Given the description of an element on the screen output the (x, y) to click on. 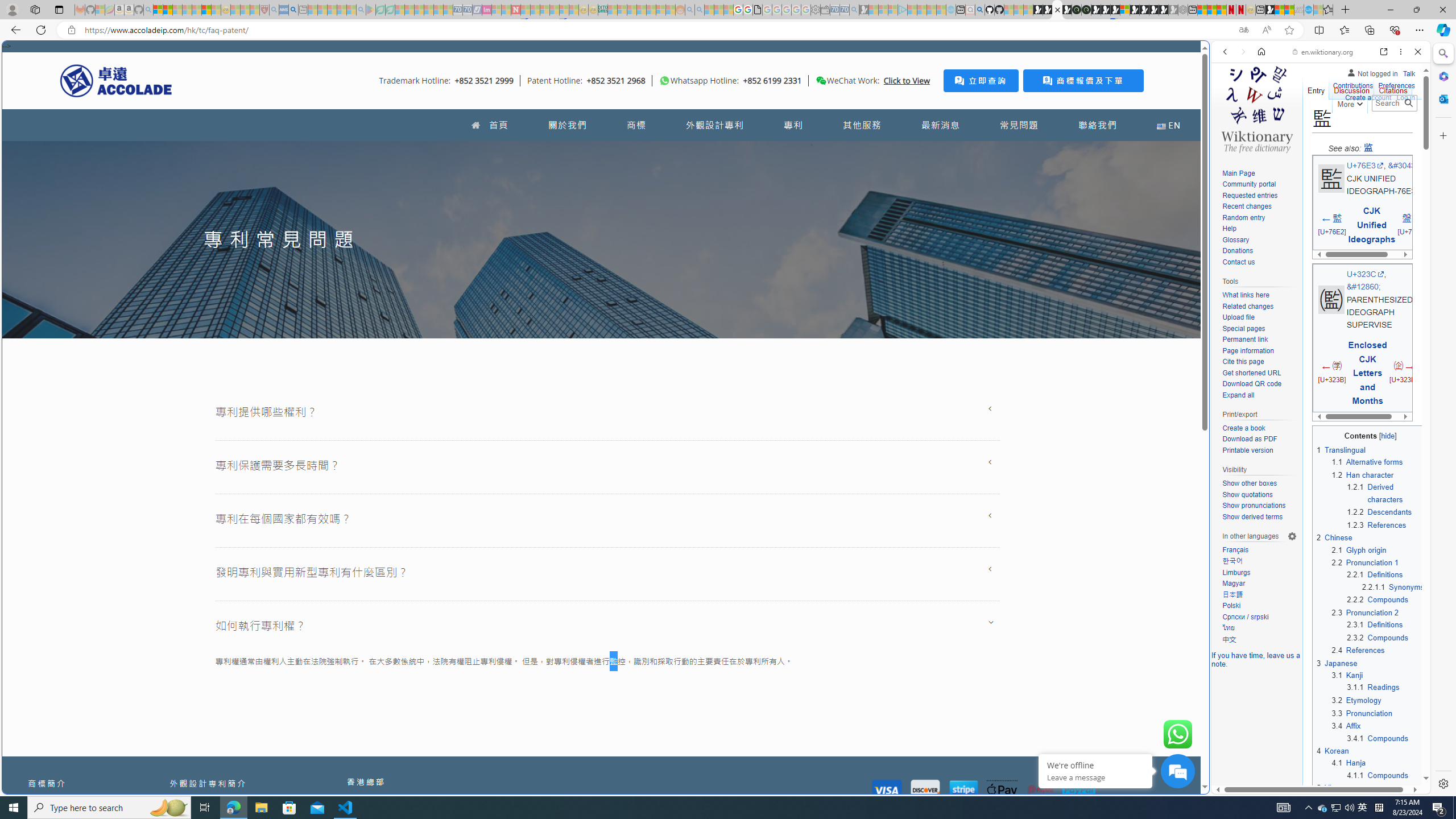
1.2.1Derived characters (1385, 493)
Random entry (1259, 218)
4.1.1Compounds (1385, 775)
google - Search - Sleeping (360, 9)
Enclosed CJK Letters and Months (1367, 372)
Create account (1367, 96)
Log in (1405, 96)
CJK Unified Ideographs (1372, 224)
Page information (1247, 350)
